Given the description of an element on the screen output the (x, y) to click on. 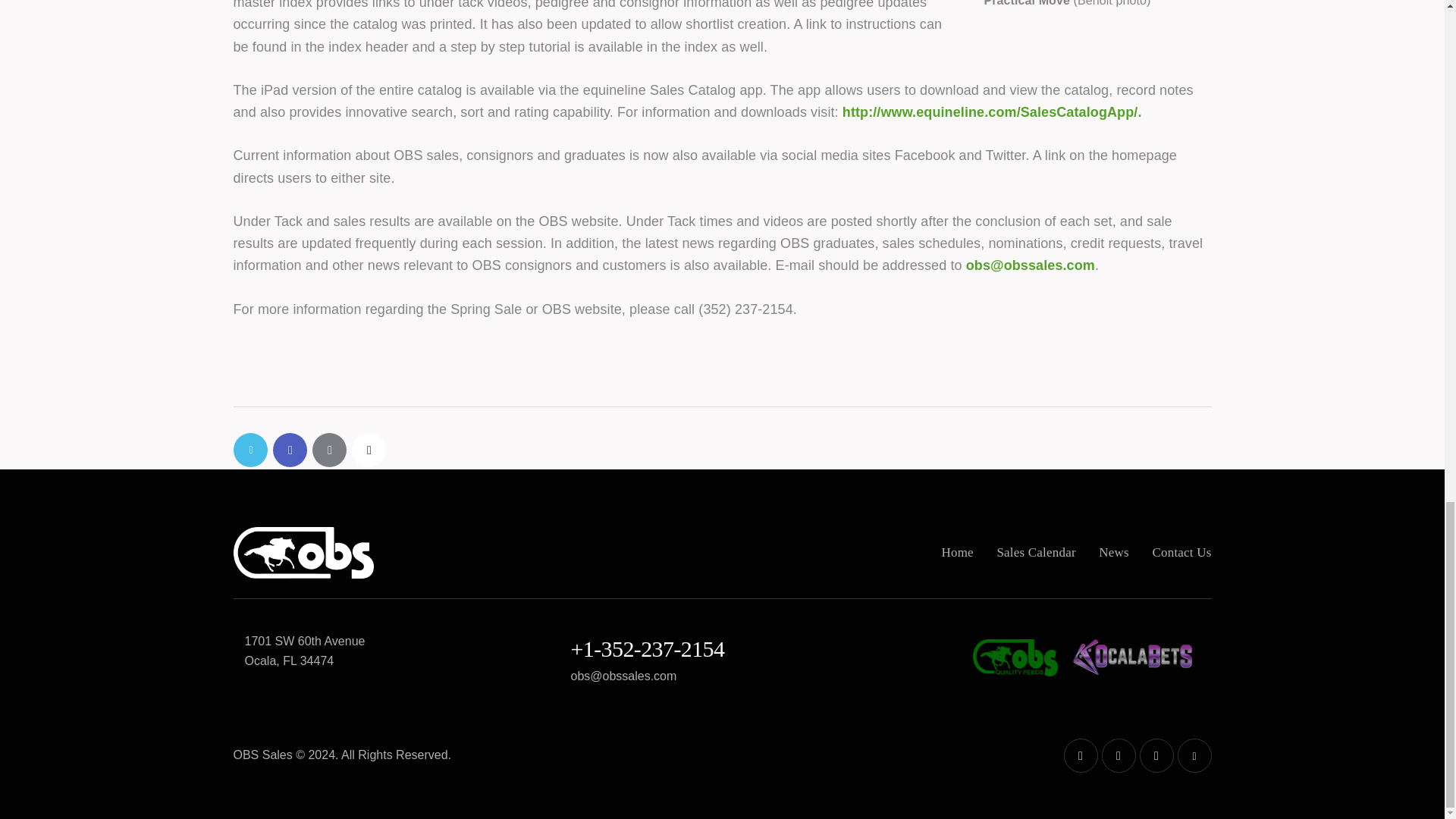
Copy URL to clipboard (368, 449)
